Given the description of an element on the screen output the (x, y) to click on. 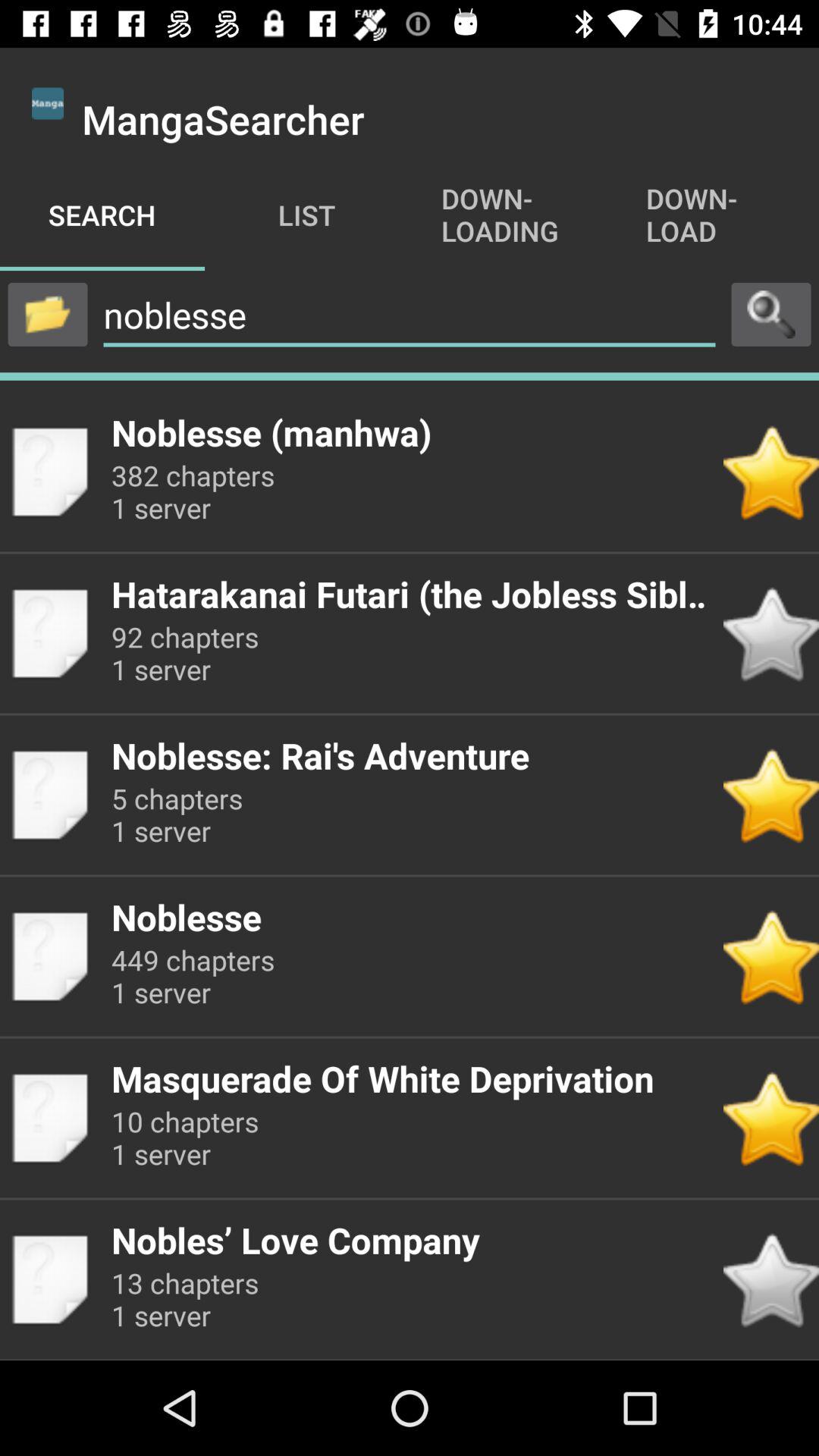
share the article (47, 314)
